Given the description of an element on the screen output the (x, y) to click on. 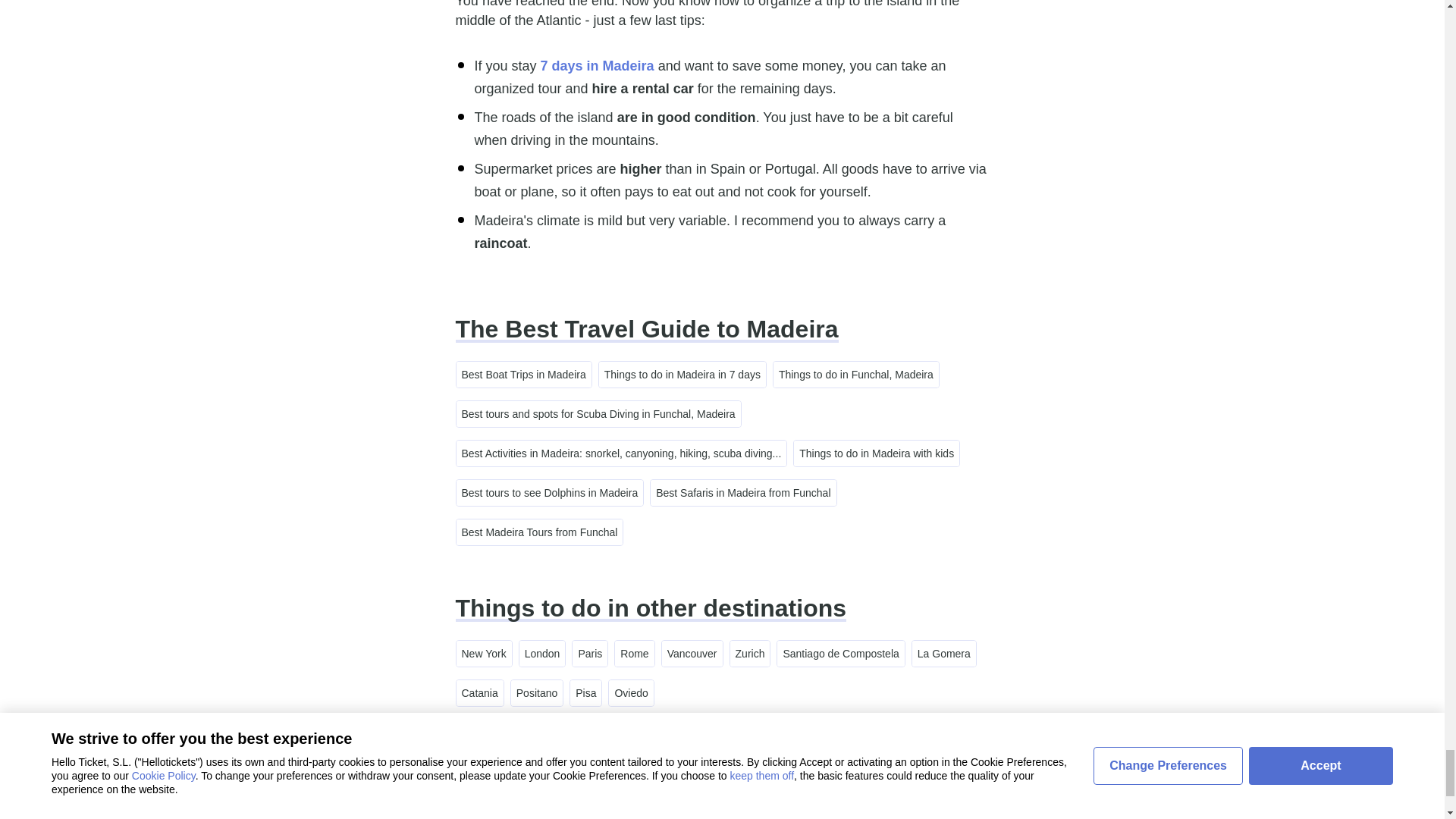
Best Boat Trips in Madeira (524, 374)
Things to do in Madeira in 7 days (681, 374)
The Best Travel Guide to Madeira (646, 329)
7 days in Madeira (596, 65)
